Given the description of an element on the screen output the (x, y) to click on. 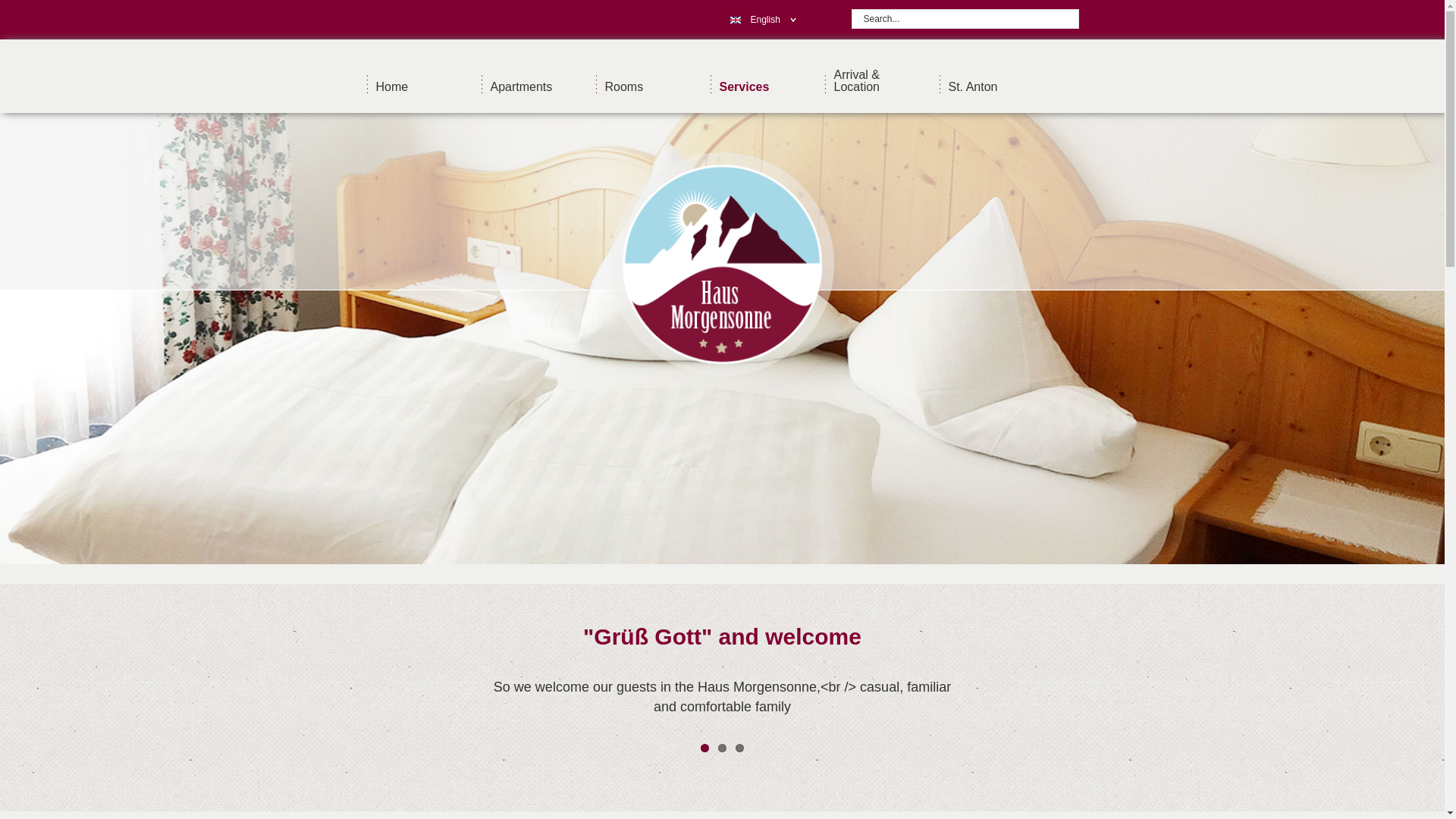
St. Anton (995, 82)
Home (422, 82)
St. Anton (995, 82)
Rooms (651, 82)
1 (704, 747)
3 (739, 747)
Services (767, 82)
Rooms (651, 82)
English (756, 19)
Services (767, 82)
